Given the description of an element on the screen output the (x, y) to click on. 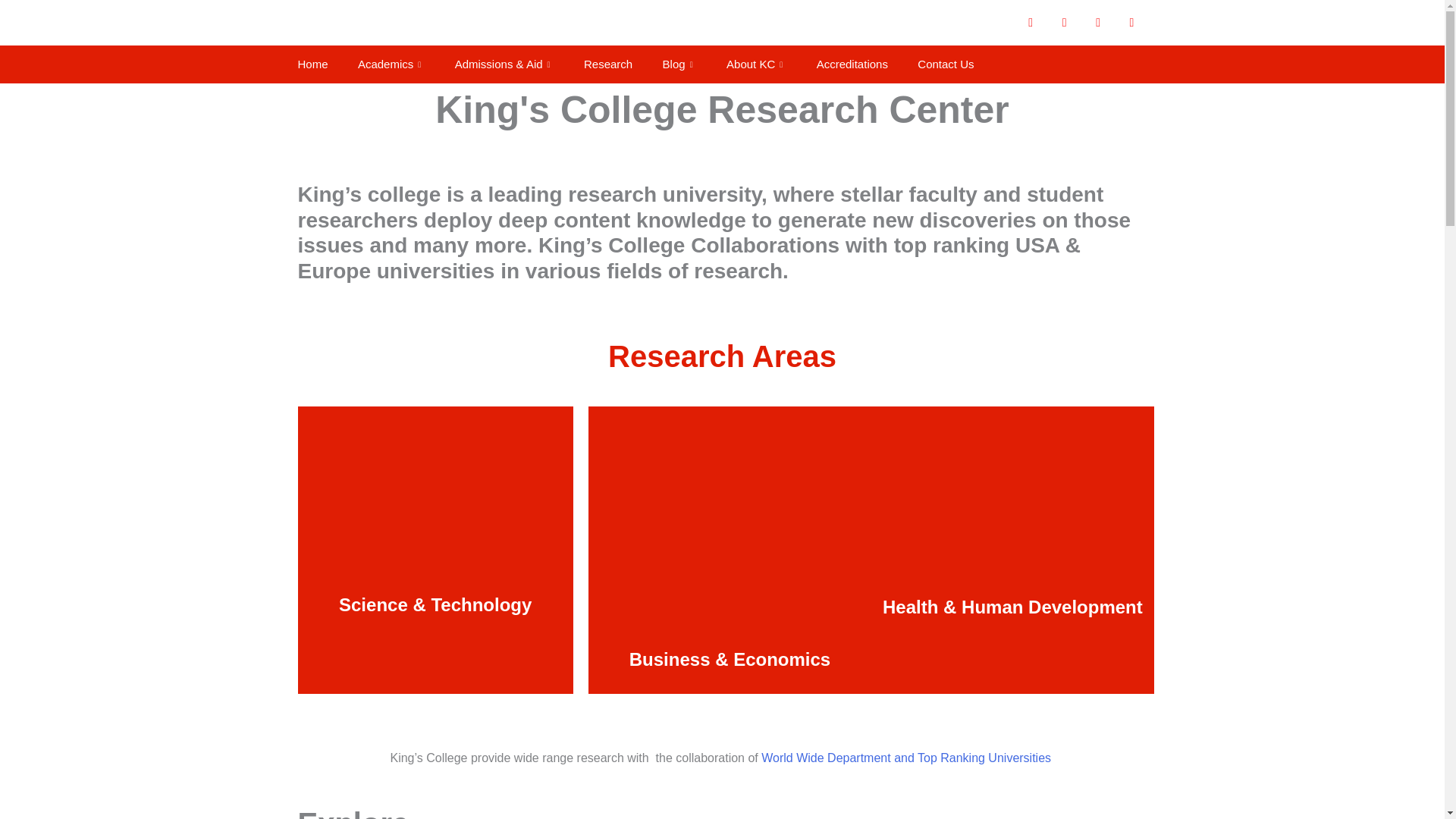
About KC (756, 64)
Research (607, 64)
Academics (391, 64)
Blog (679, 64)
Home (312, 64)
